Given the description of an element on the screen output the (x, y) to click on. 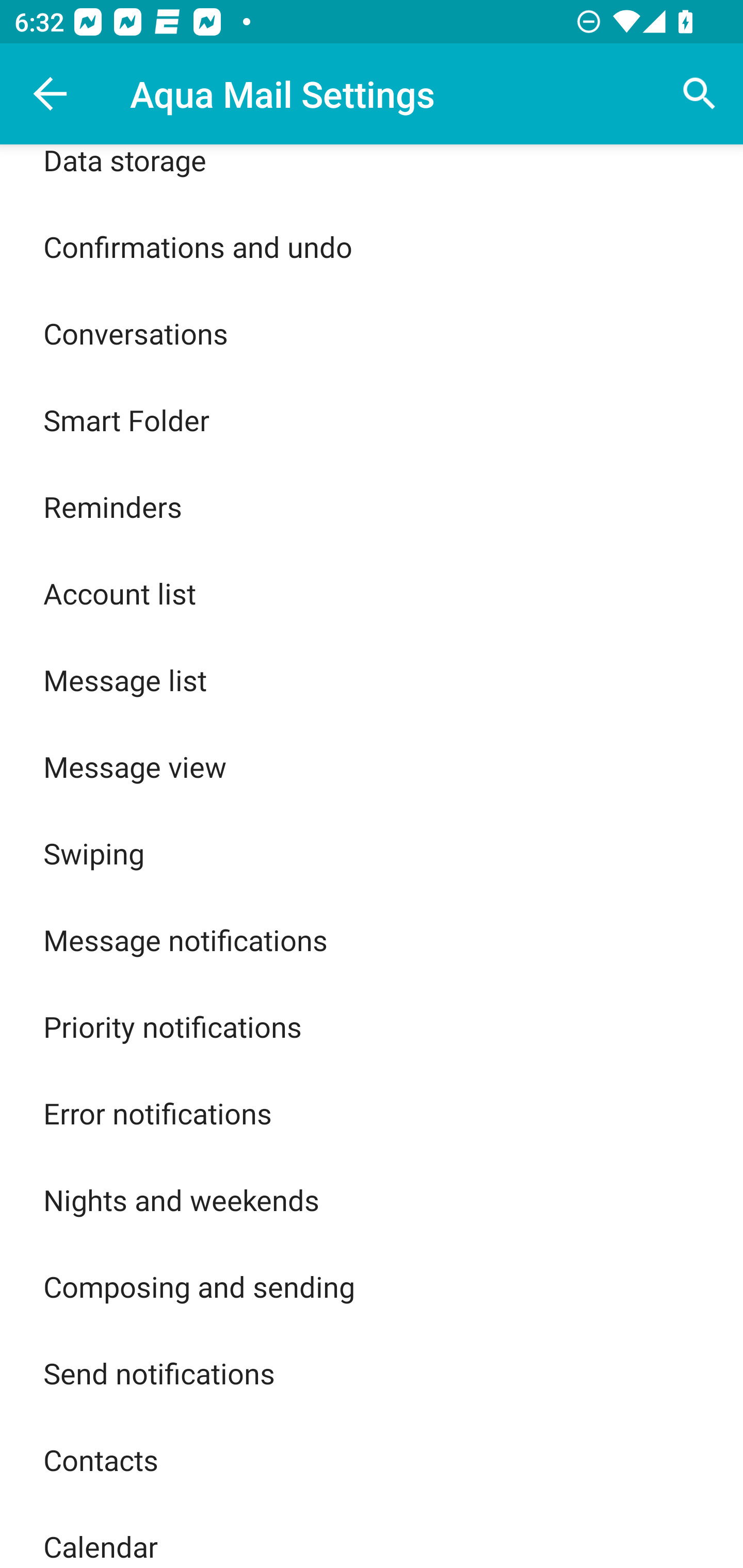
Navigate up (50, 93)
Search (699, 93)
Data storage (371, 173)
Confirmations and undo (371, 246)
Conversations (371, 333)
Smart Folder (371, 419)
Reminders (371, 506)
Account list (371, 593)
Message list (371, 679)
Message view (371, 765)
Swiping (371, 852)
Message notifications (371, 939)
Priority notifications (371, 1026)
Error notifications (371, 1113)
Nights and weekends (371, 1200)
Composing and sending (371, 1286)
Send notifications (371, 1372)
Contacts (371, 1459)
Calendar (371, 1535)
